Given the description of an element on the screen output the (x, y) to click on. 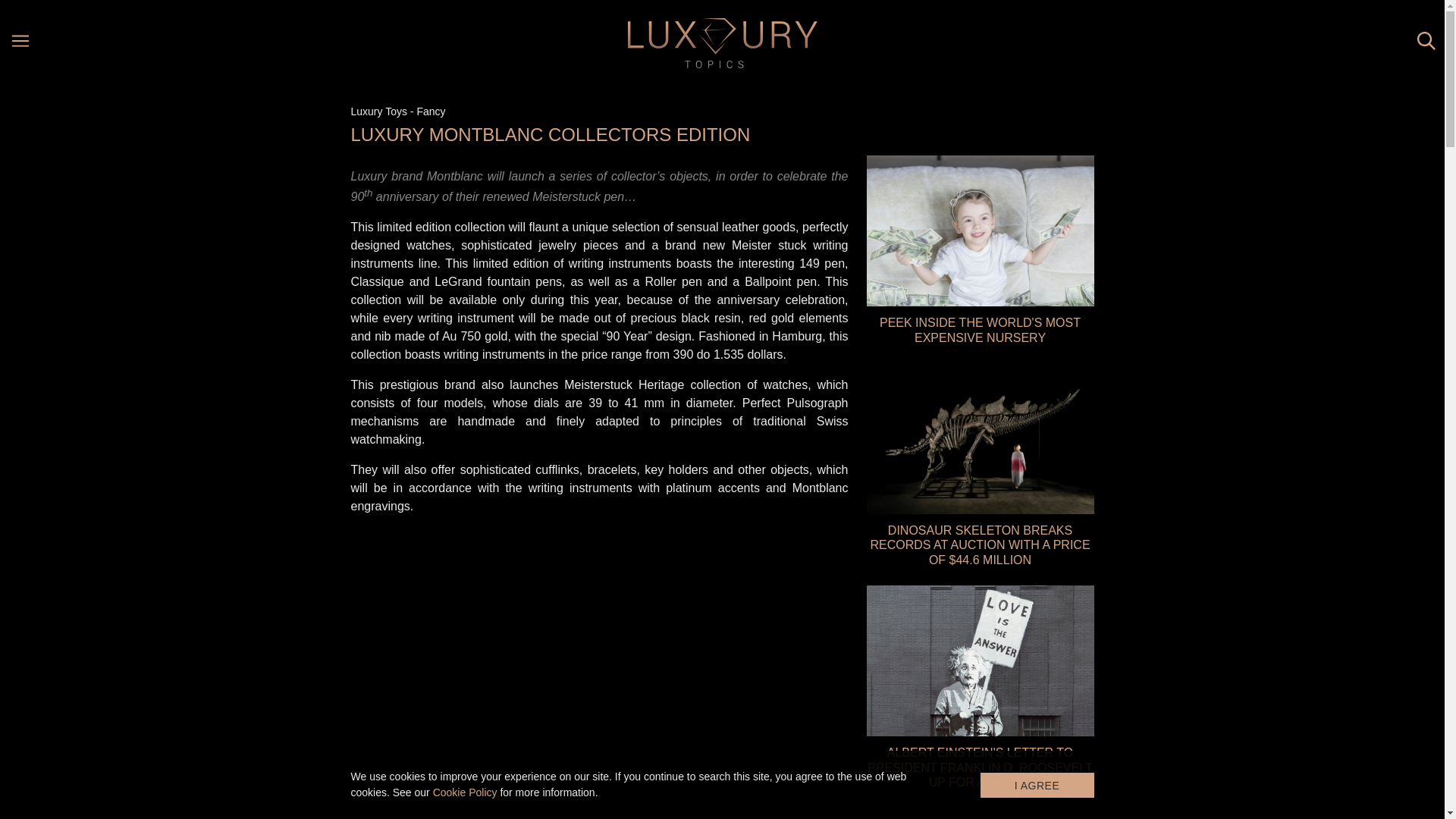
Luxury Toys (378, 111)
Fancy (430, 111)
PEEK INSIDE THE WORLD'S MOST EXPENSIVE NURSERY (979, 249)
